Given the description of an element on the screen output the (x, y) to click on. 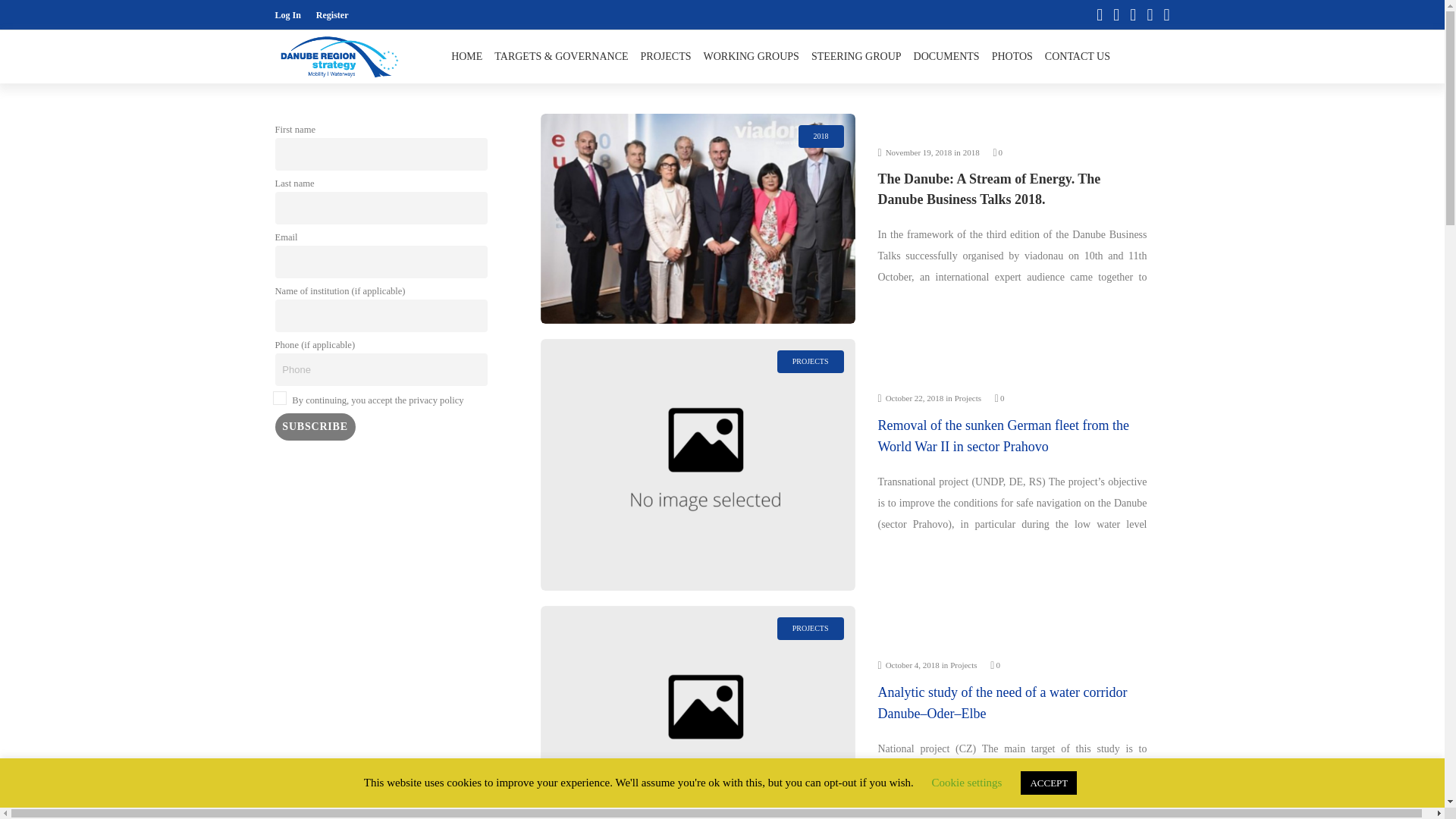
Register (332, 14)
WORKING GROUPS (751, 56)
Subscribe (315, 426)
PROJECTS (665, 56)
Site logo (339, 56)
Log In (287, 14)
Site logo (334, 56)
on (279, 398)
